Given the description of an element on the screen output the (x, y) to click on. 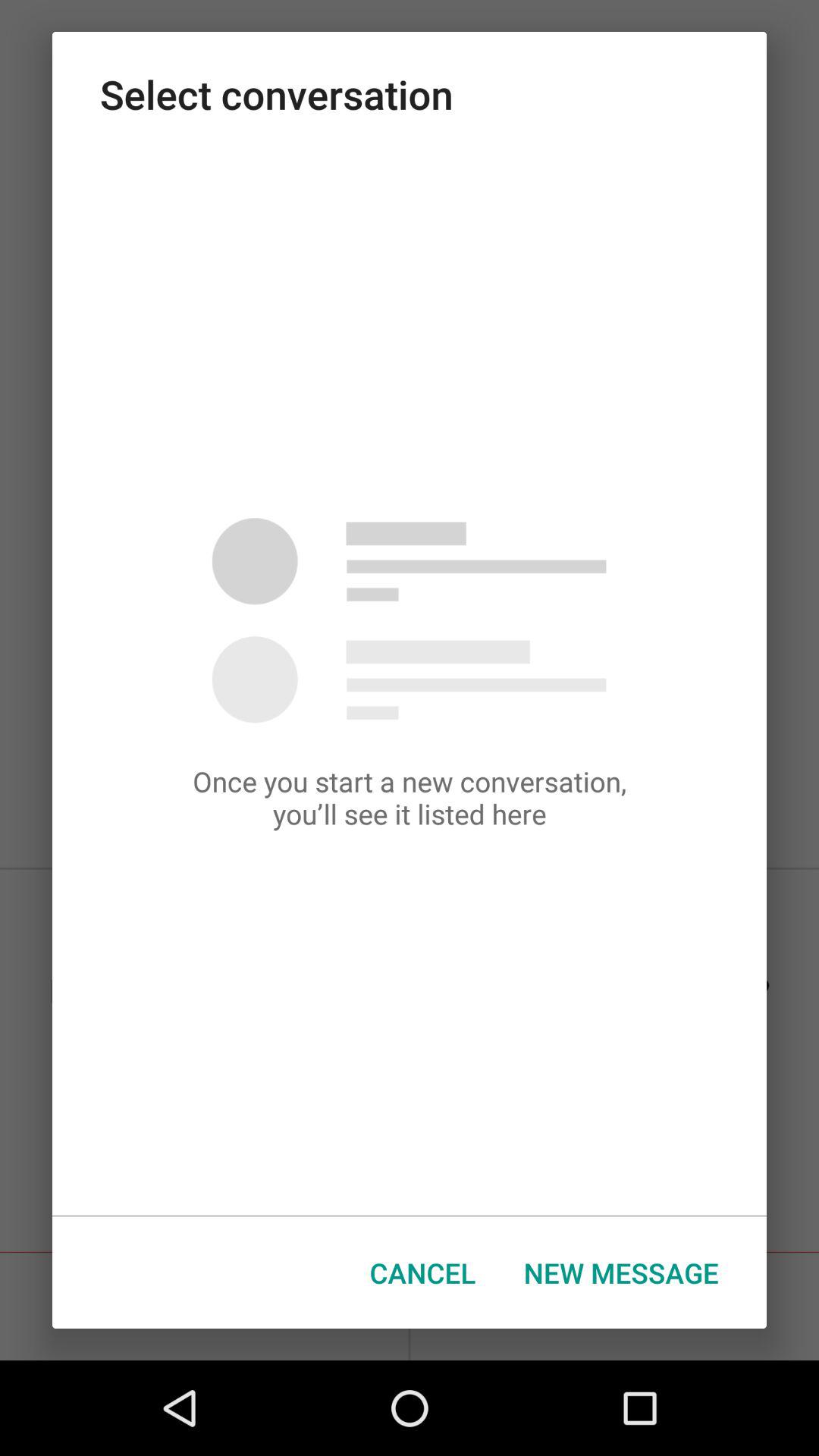
flip until the new message icon (620, 1272)
